Given the description of an element on the screen output the (x, y) to click on. 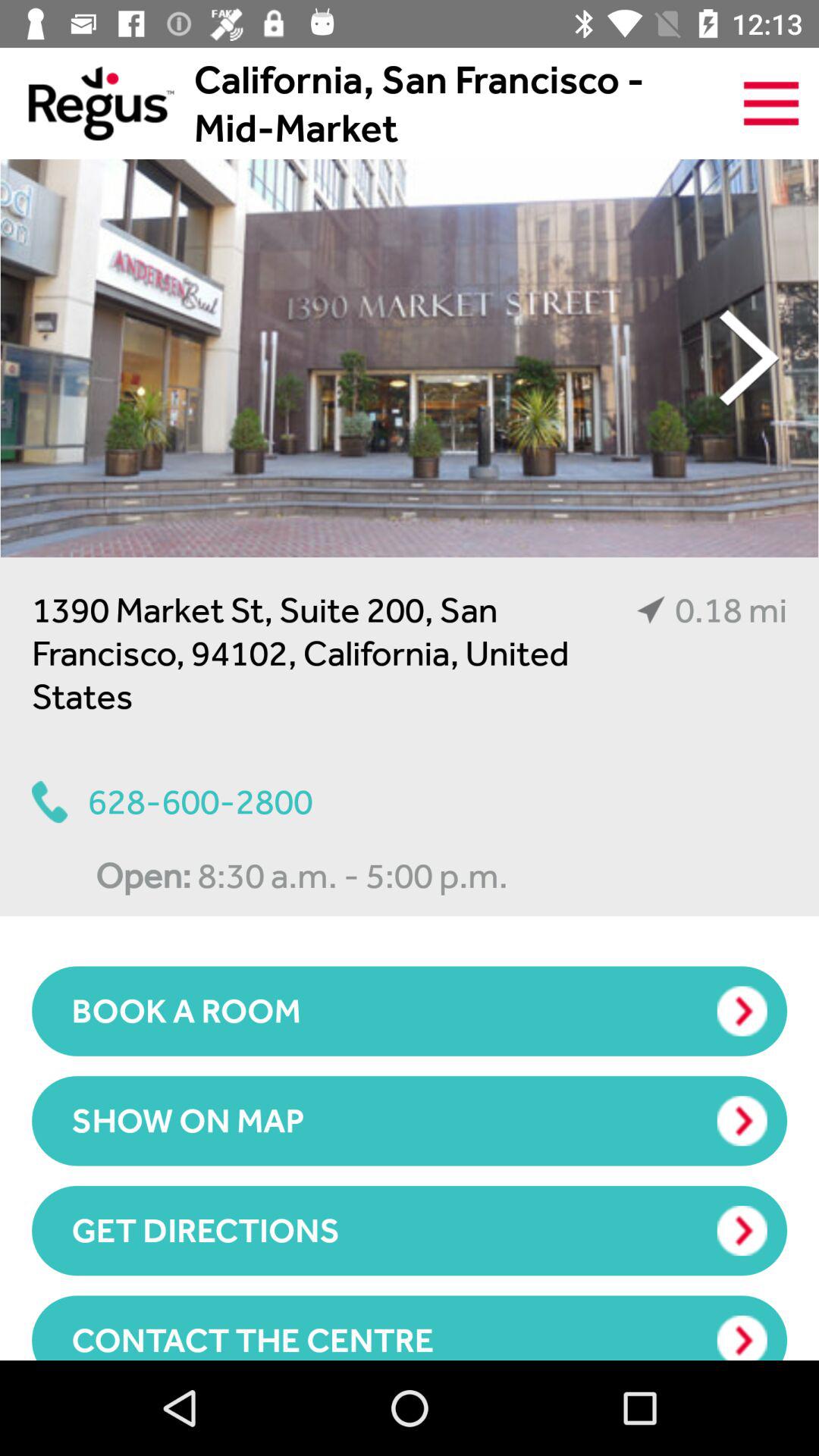
turn on the icon at the top left corner (87, 103)
